Given the description of an element on the screen output the (x, y) to click on. 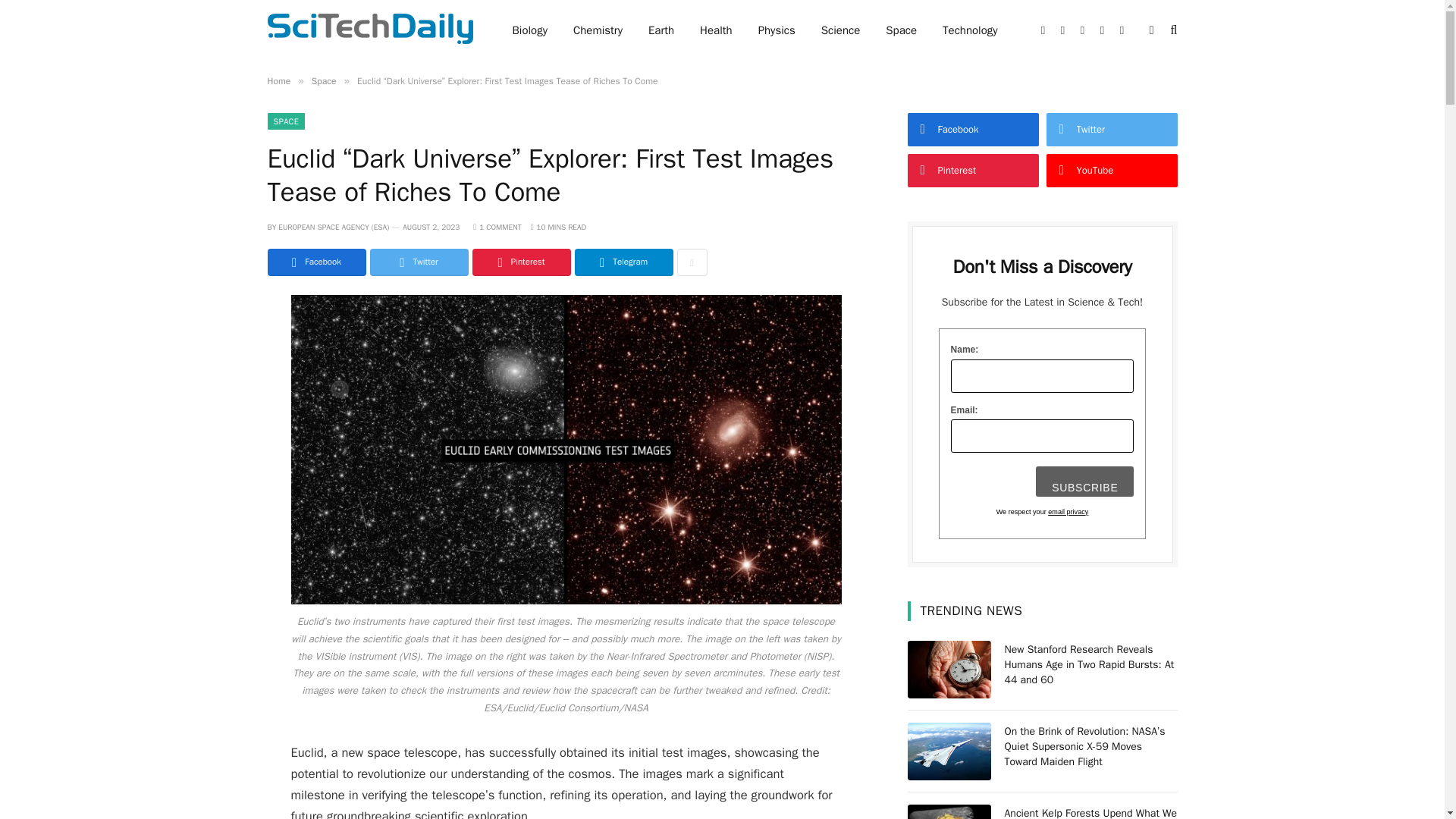
Physics (776, 30)
Space (901, 30)
Share on Facebook (315, 262)
SPACE (285, 121)
Biology (529, 30)
Chemistry (597, 30)
Home (277, 80)
Twitter (418, 262)
Pinterest (520, 262)
1 COMMENT (497, 226)
